Given the description of an element on the screen output the (x, y) to click on. 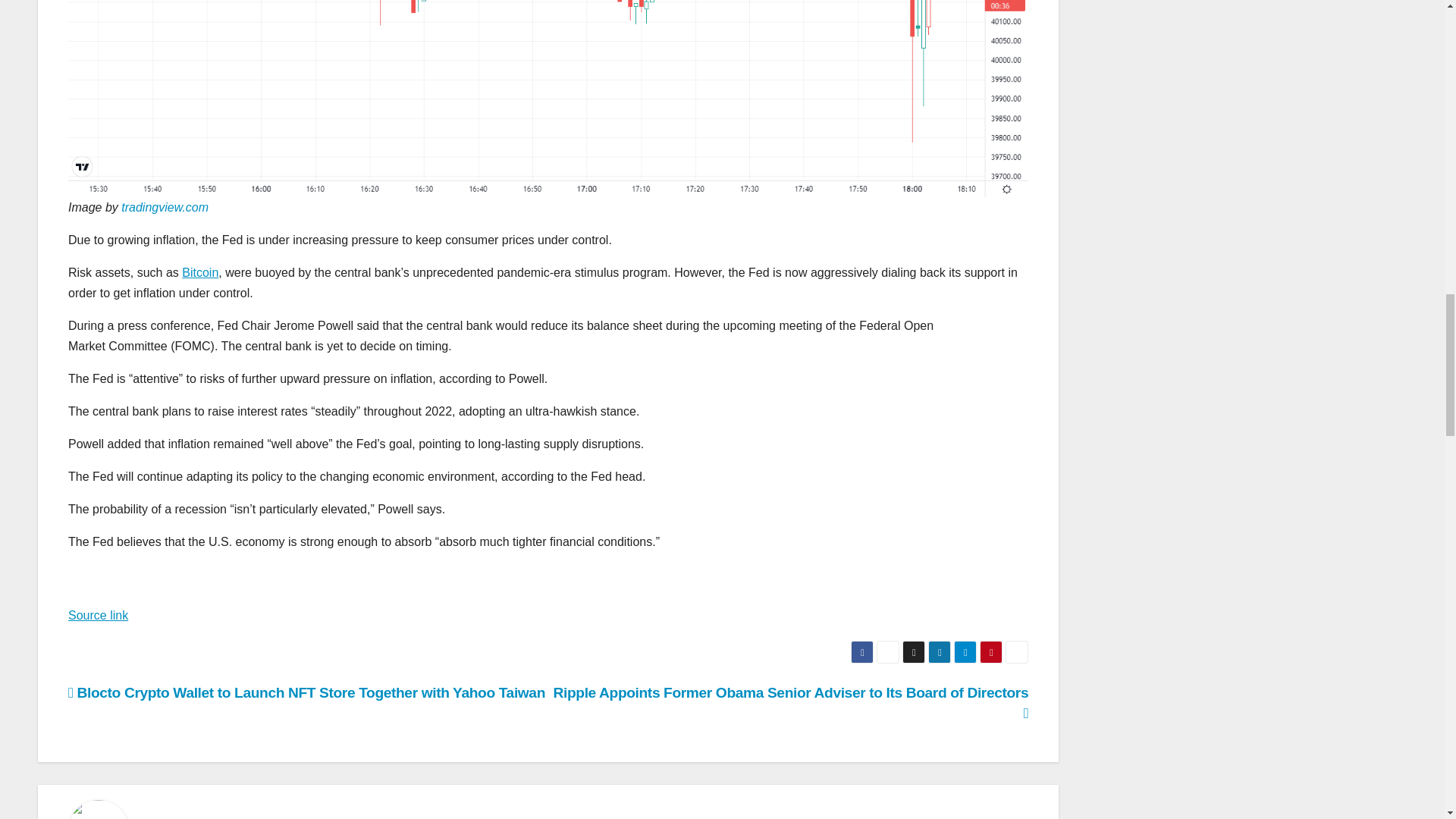
Bitcoin (200, 272)
Source link (98, 615)
tradingview.com (164, 206)
